Given the description of an element on the screen output the (x, y) to click on. 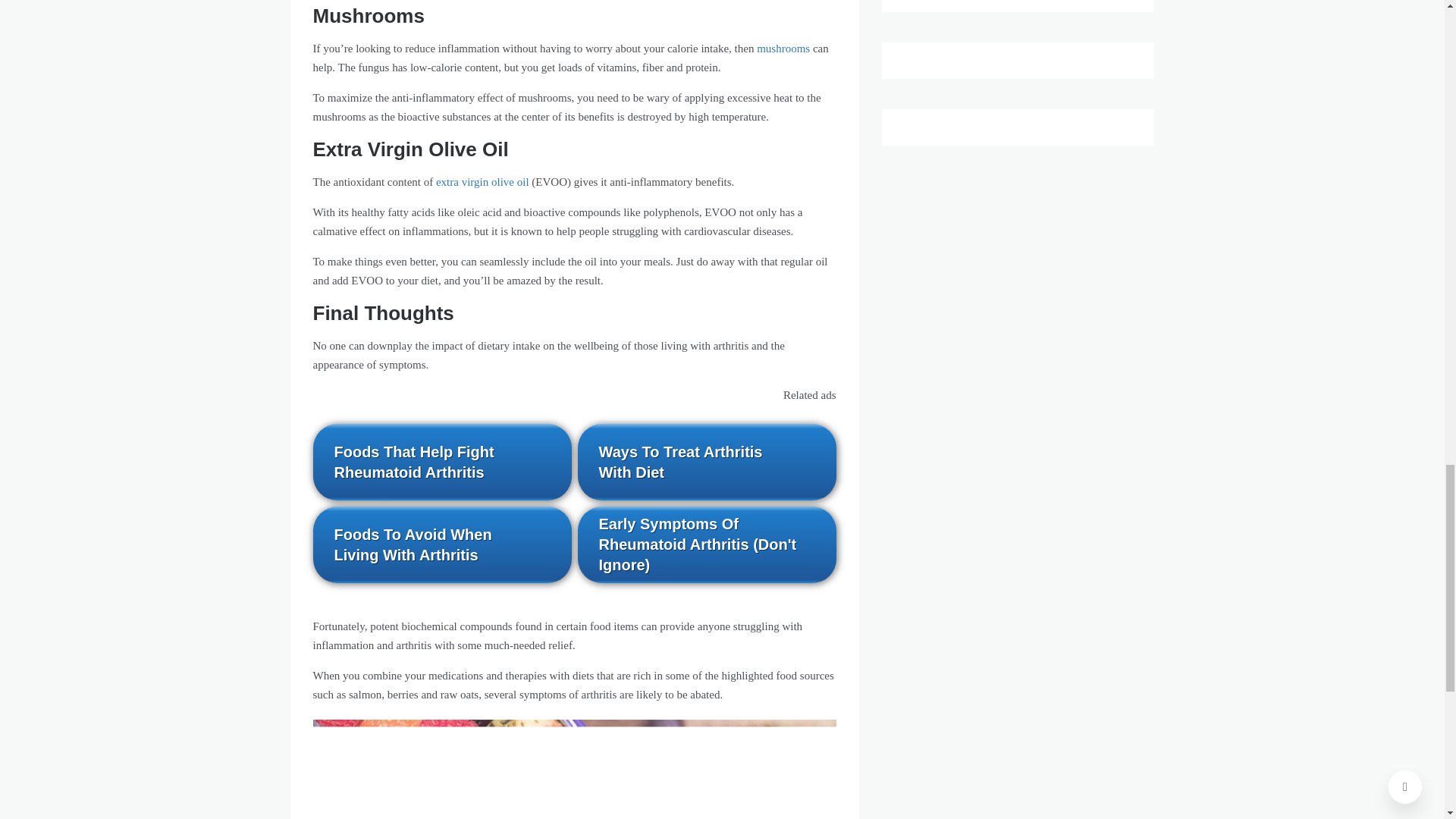
Foods That Help Fight Rheumatoid Arthritis (441, 462)
extra virgin olive oil (482, 182)
Foods To Avoid When Living With Arthritis (441, 544)
mushrooms (783, 48)
Ways To Treat Arthritis With Diet (706, 462)
